Given the description of an element on the screen output the (x, y) to click on. 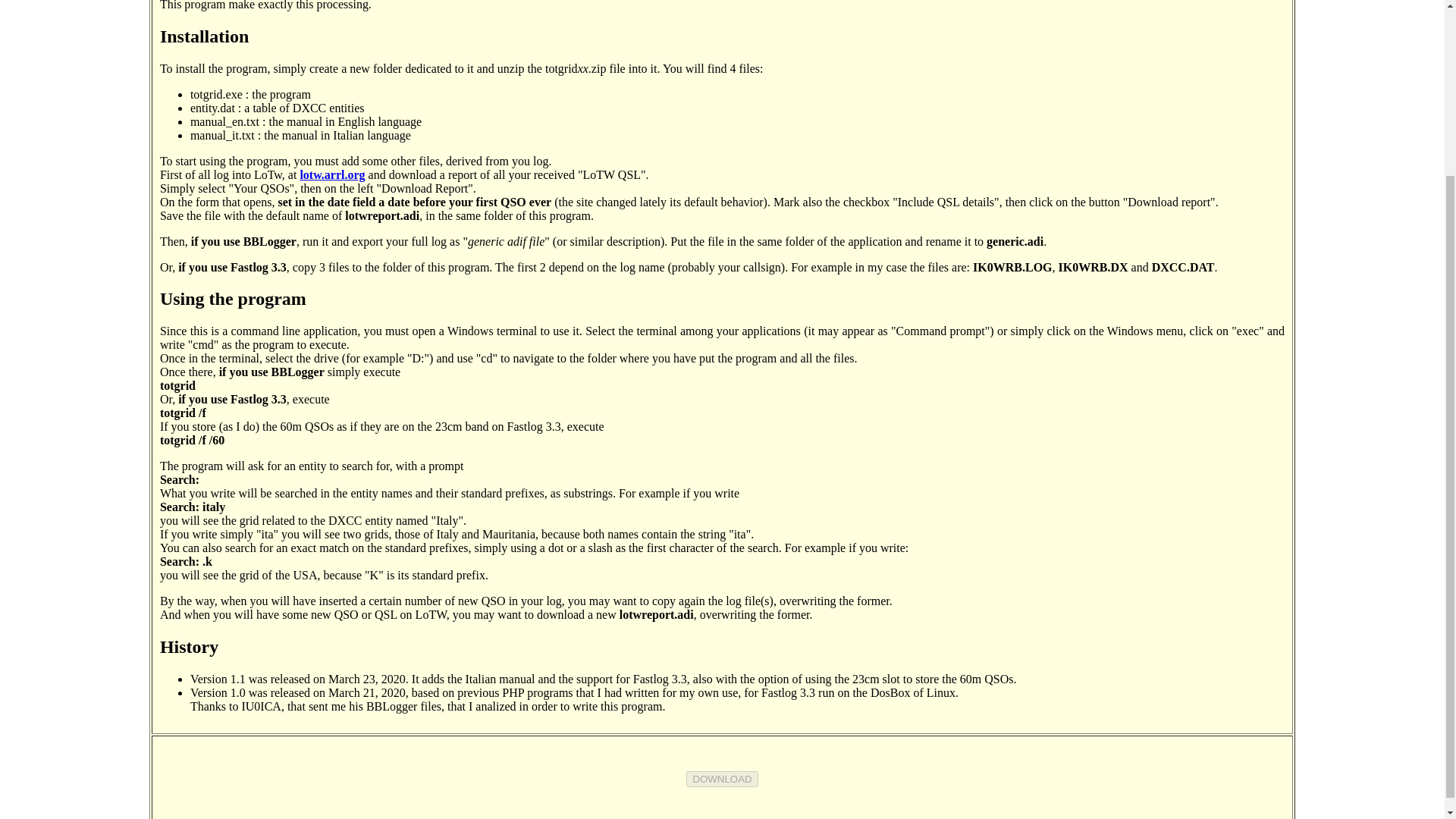
lotw.arrl.org (332, 173)
DOWNLOAD (721, 779)
